Given the description of an element on the screen output the (x, y) to click on. 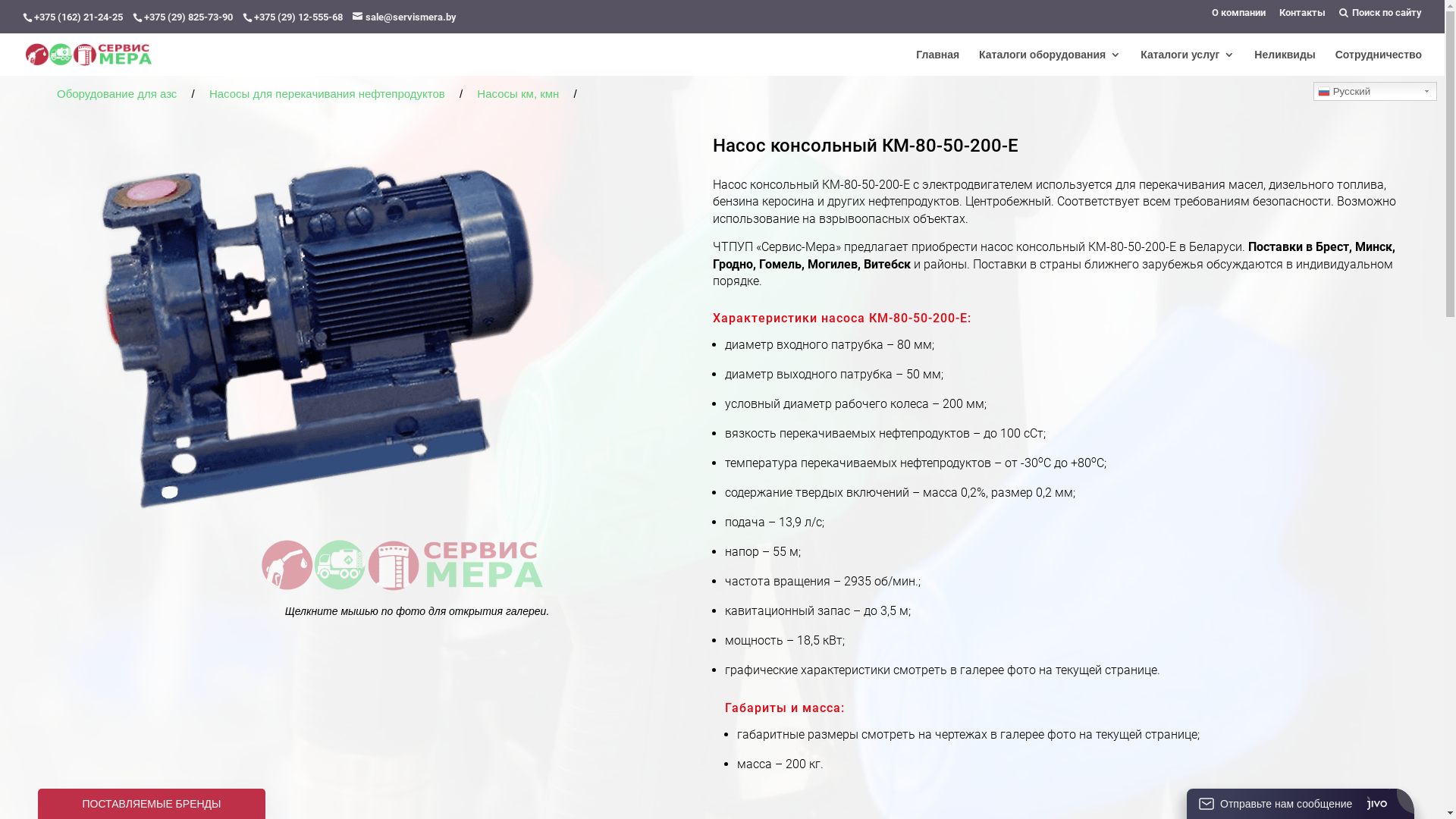
+375 (29) 825-73-90 Element type: text (188, 16)
+375 (29) 12-555-68 Element type: text (298, 16)
sale@servismera.by Element type: text (410, 16)
